Given the description of an element on the screen output the (x, y) to click on. 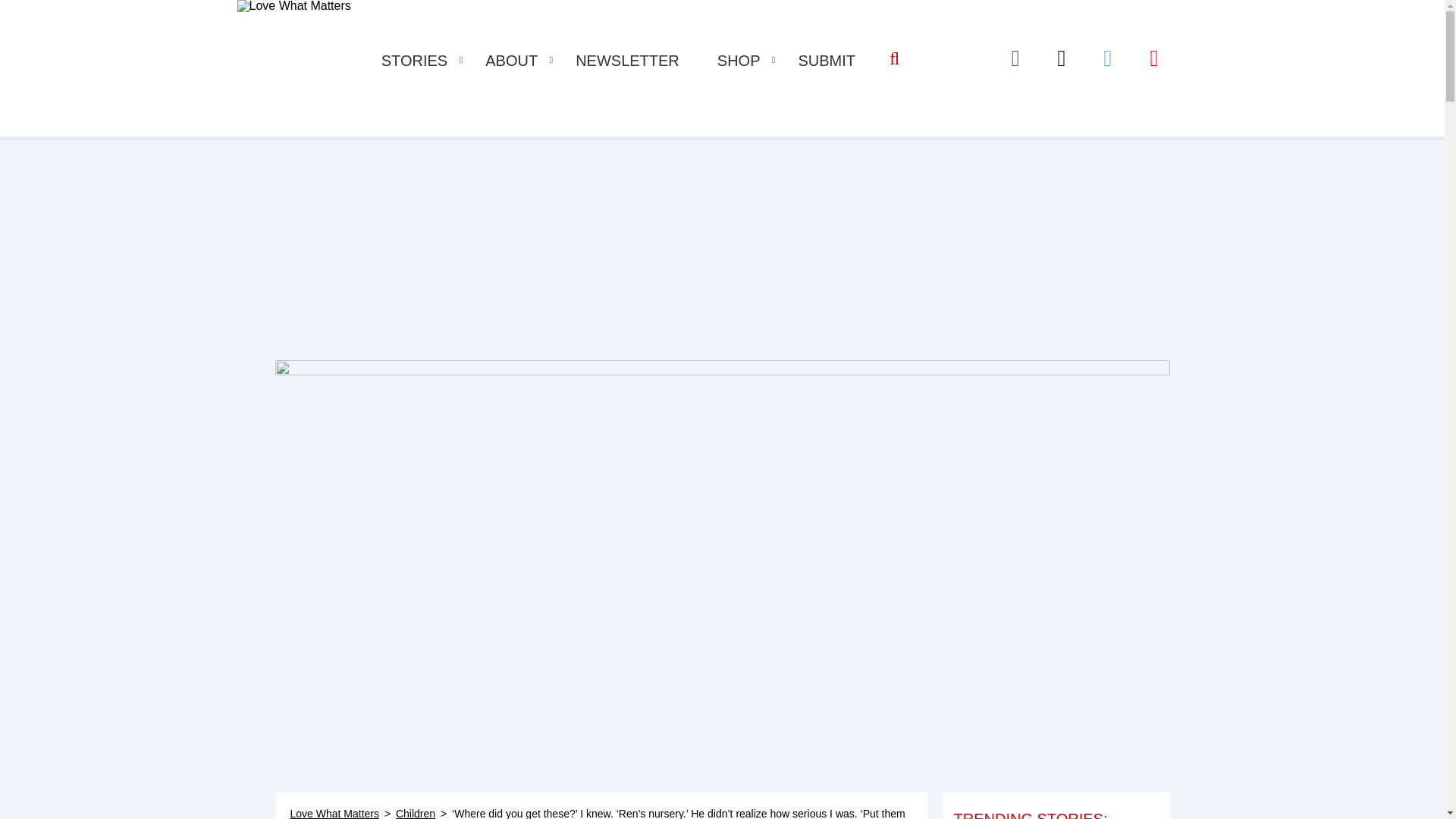
SUBMIT (826, 60)
ABOUT (511, 60)
NEWSLETTER (627, 60)
SHOP (738, 60)
STORIES (414, 60)
